Given the description of an element on the screen output the (x, y) to click on. 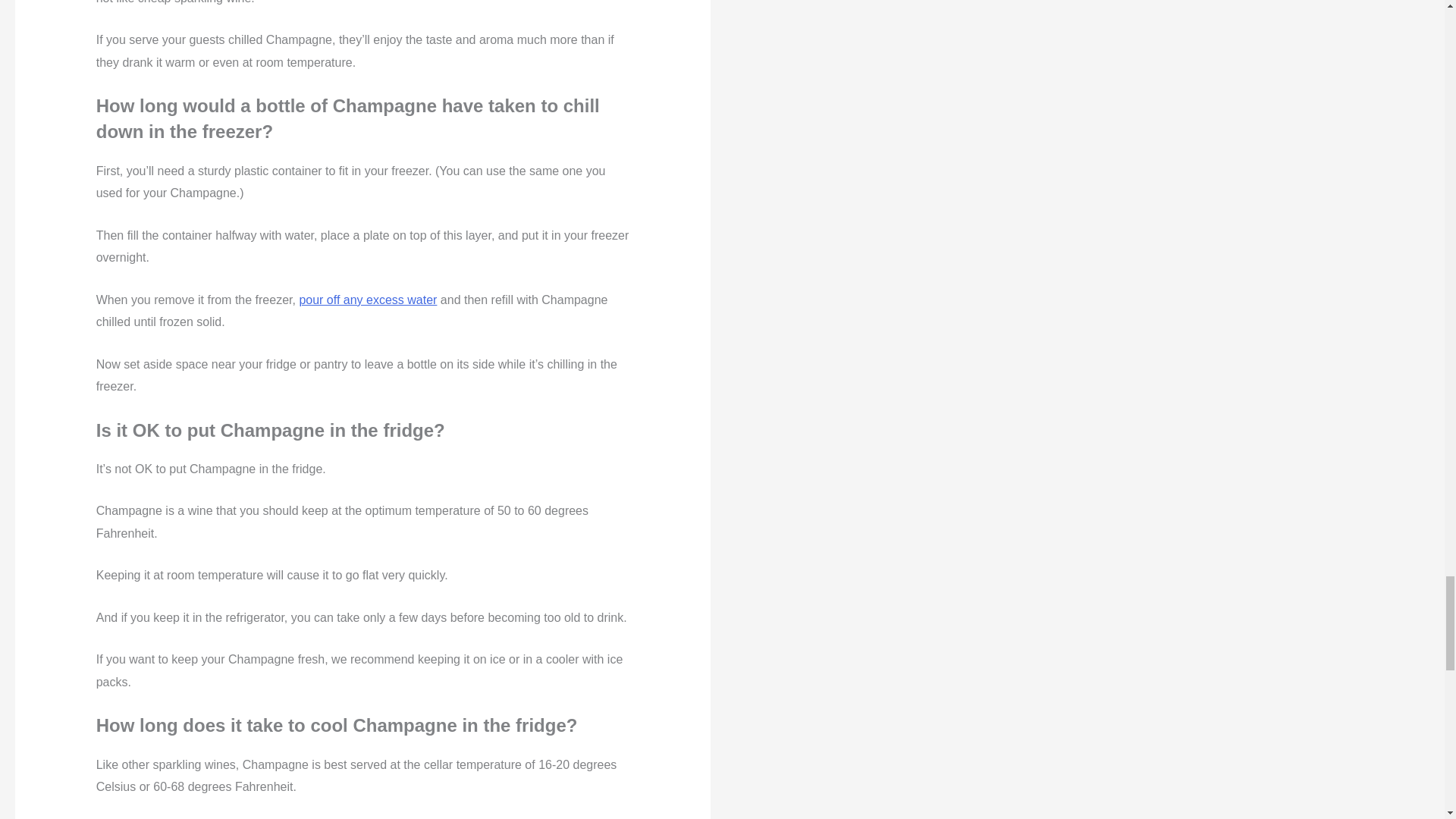
pour off any excess water (367, 299)
